Given the description of an element on the screen output the (x, y) to click on. 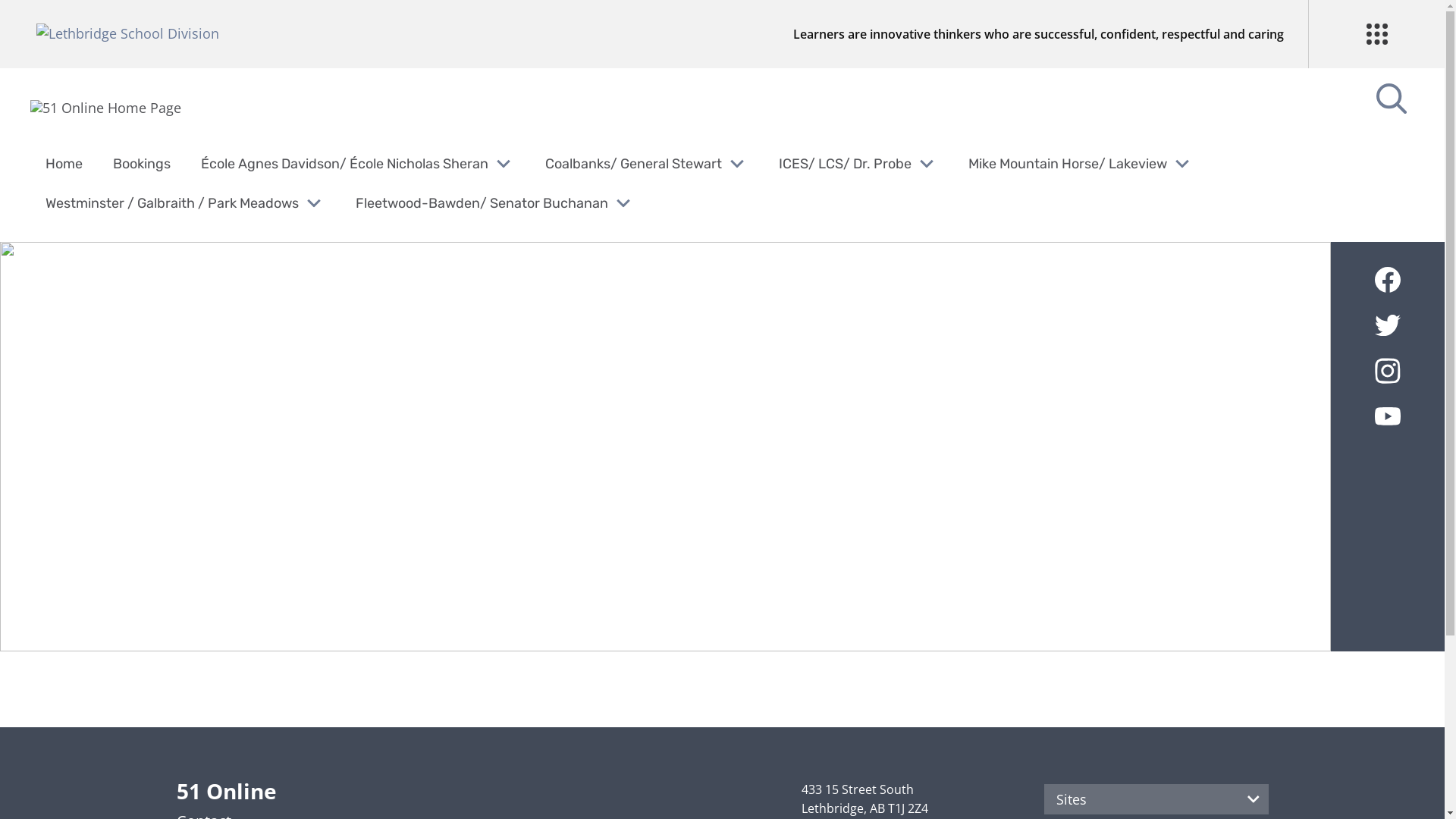
Bookings Element type: text (141, 163)
home Element type: hover (105, 108)
Home Element type: text (63, 163)
51 Online's YouTube Element type: hover (1387, 416)
Fleetwood-Bawden/ Senator Buchanan Element type: text (481, 203)
51 Online's Instagram Element type: hover (1387, 370)
Search Element type: text (45, 19)
51 Online's Facebook Element type: hover (1387, 279)
Mike Mountain Horse/ Lakeview Element type: text (1067, 163)
51 Online's Twitter Element type: hover (1387, 325)
Coalbanks/ General Stewart Element type: text (633, 163)
ICES/ LCS/ Dr. Probe Element type: text (844, 163)
Westminster / Galbraith / Park Meadows Element type: text (171, 203)
